Given the description of an element on the screen output the (x, y) to click on. 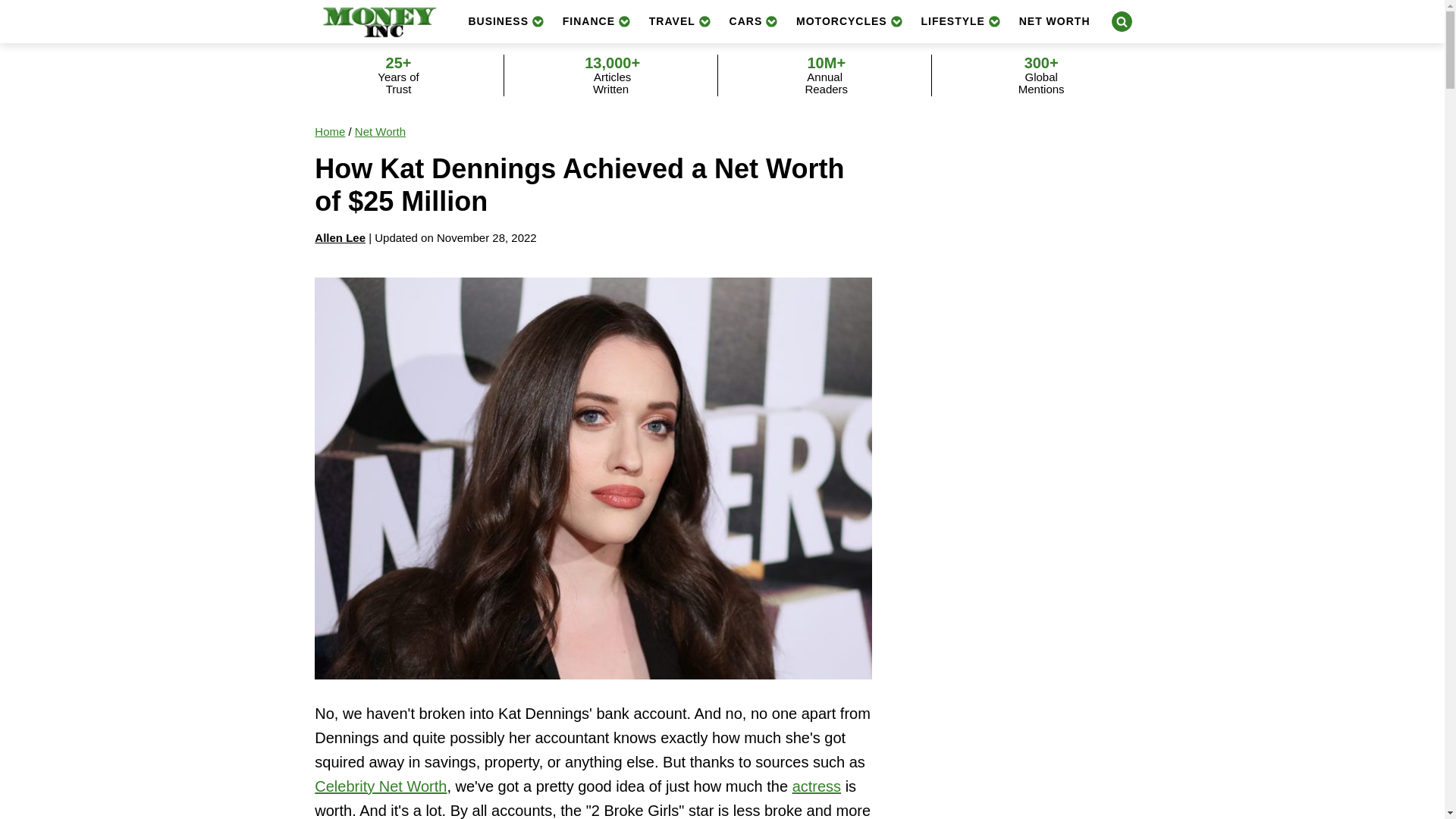
TRAVEL (680, 21)
CARS (753, 21)
BUSINESS (505, 21)
FINANCE (596, 21)
